Given the description of an element on the screen output the (x, y) to click on. 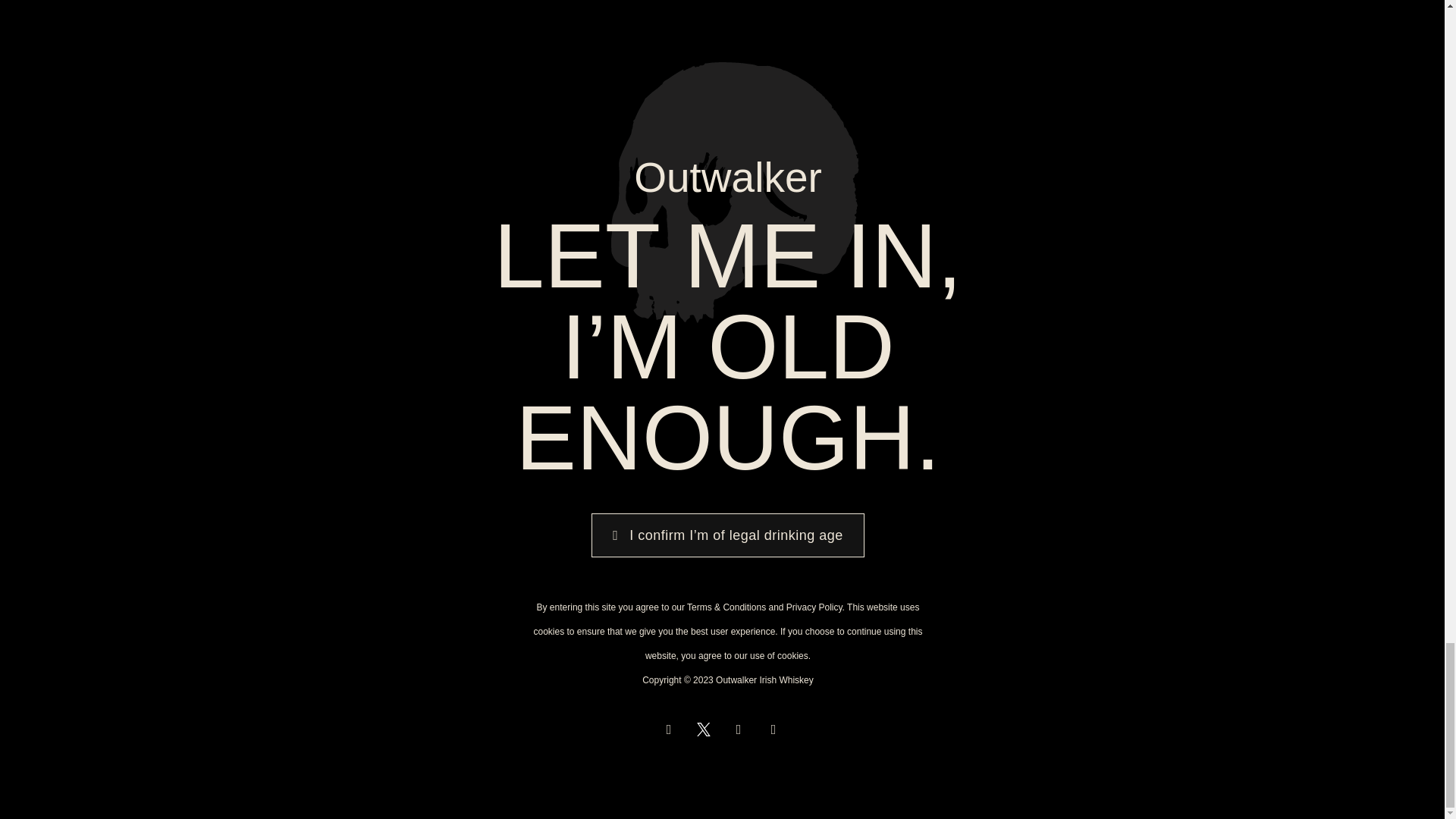
SUBSCRIBE (365, 647)
Read Story (424, 314)
Read Story (722, 280)
